Given the description of an element on the screen output the (x, y) to click on. 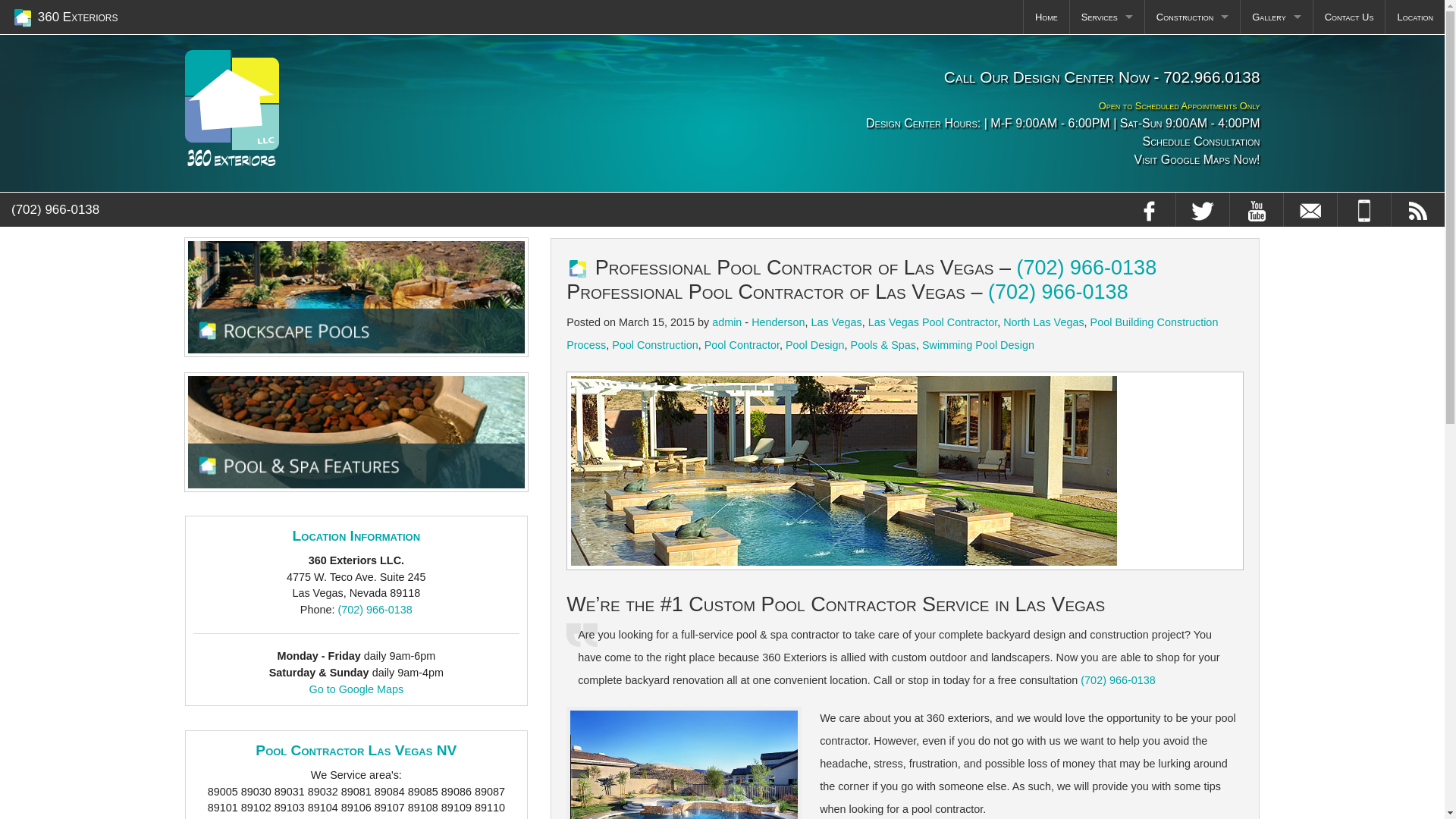
Las Vegas Pool Contractor Element type: text (932, 322)
Home Element type: text (1046, 17)
(702) 966-0138 Element type: text (1117, 680)
Pool Construction Element type: text (654, 344)
Contact Us Element type: text (1349, 17)
(702) 966-0138 Element type: text (374, 609)
Plaster FAQ Element type: text (1192, 51)
(702) 966-0138 Element type: text (1058, 291)
admin Element type: text (726, 322)
Construction Element type: text (1192, 17)
Henderson Element type: text (777, 322)
Pools & Spas Element type: text (883, 344)
(702) 966-0138 Element type: text (55, 209)
360 Exteriors Pool Builder Contact Phone Number Element type: hover (1363, 209)
Visit Google Maps Now! Element type: text (859, 159)
Outdoor Kitchens Element type: text (1107, 85)
Videos Element type: text (1275, 85)
Call Our Design Center Now - 702.966.0138 Element type: text (1102, 76)
Swimming Pool Design Element type: text (978, 344)
Photos Element type: text (1275, 51)
Pool Contractor Element type: text (741, 344)
Services Element type: text (1107, 17)
Landscaping Element type: text (1107, 119)
(702) 966-0138 Element type: text (1086, 267)
Schedule Consultation Element type: text (859, 141)
Las Vegas Element type: text (836, 322)
Gallery Element type: text (1275, 17)
360 Exteriors Element type: text (64, 17)
Go to Google Maps Element type: text (355, 689)
Pools & Spas Element type: text (1107, 51)
North Las Vegas Element type: text (1043, 322)
Pool Building Construction Process Element type: text (891, 333)
Location Element type: text (1414, 17)
Pool Design Element type: text (814, 344)
Construction Stages Element type: text (1192, 85)
